Given the description of an element on the screen output the (x, y) to click on. 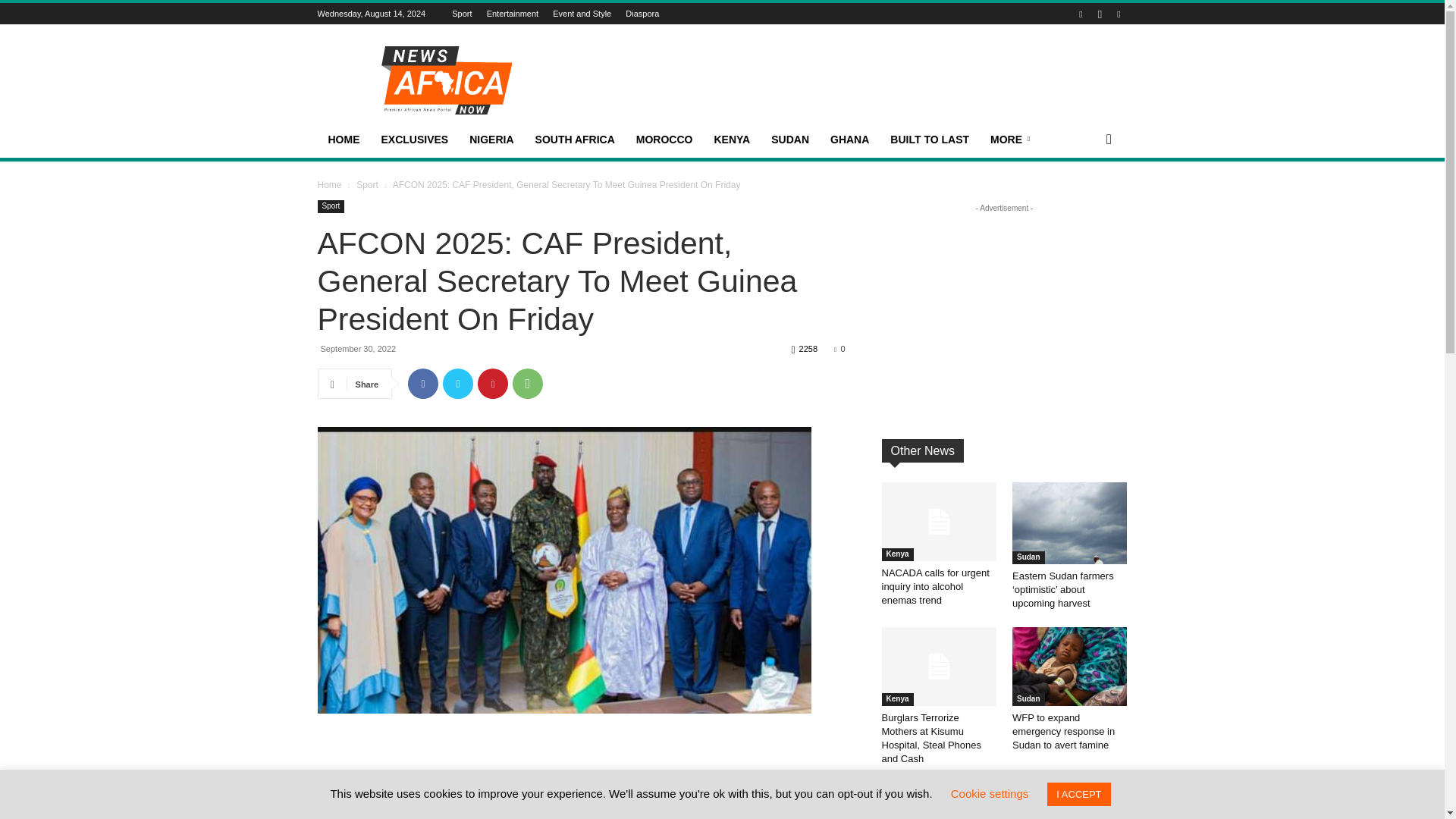
Entertainment (512, 13)
Advertisement (580, 755)
WhatsApp (527, 383)
Facebook (422, 383)
Twitter (457, 383)
Event and Style (582, 13)
Diaspora (642, 13)
HOME (343, 139)
EXCLUSIVES (413, 139)
NIGERIA (491, 139)
